Given the description of an element on the screen output the (x, y) to click on. 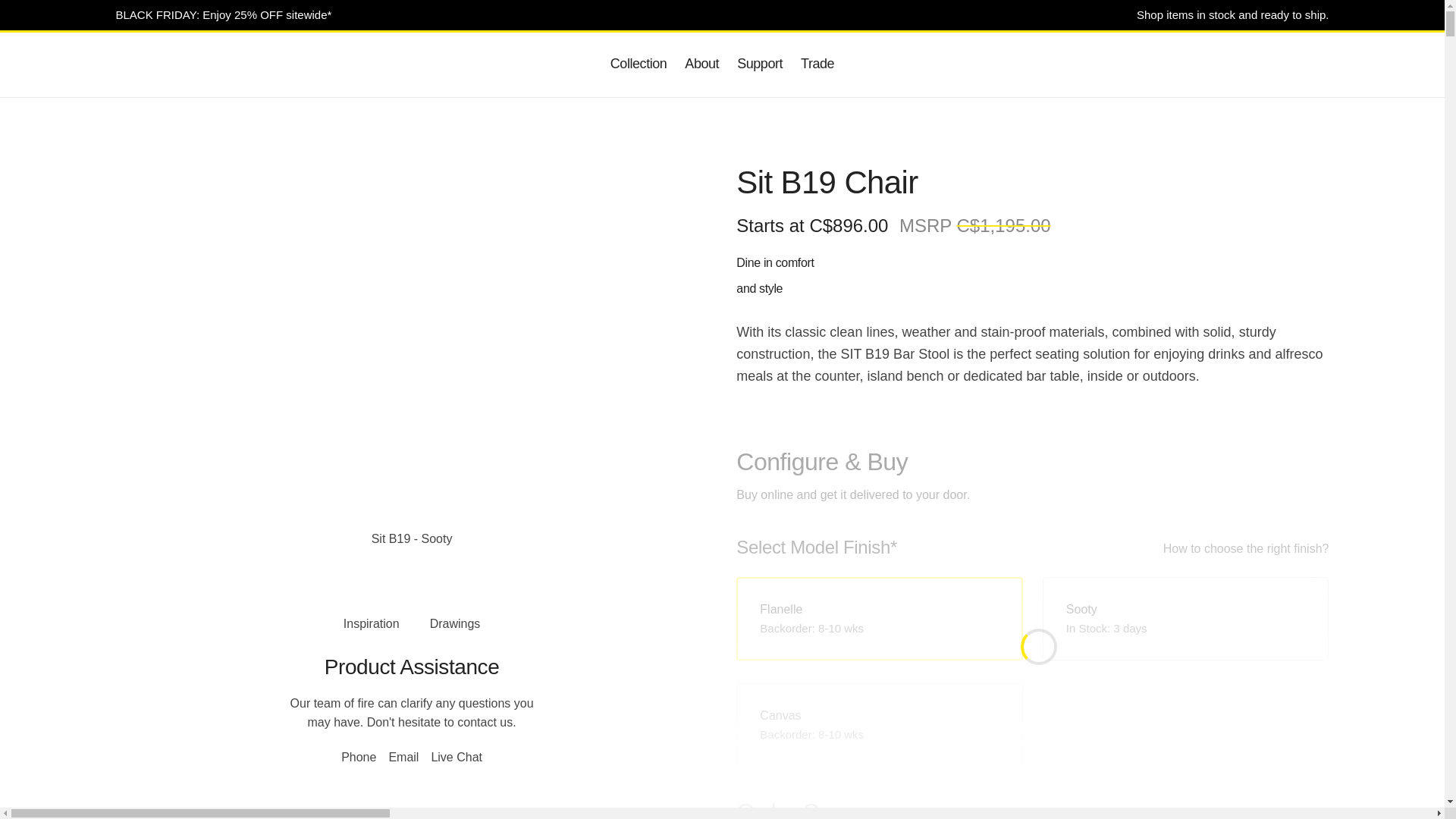
Phone Element type: text (358, 756)
Phone Element type: text (1228, 63)
Sign In Element type: text (1319, 63)
How to choose the right finish? Element type: text (1246, 548)
Trade Element type: text (817, 63)
Cart Element type: text (1289, 63)
About Element type: text (701, 63)
Email Element type: text (403, 756)
Collection Element type: text (638, 63)
Search Element type: text (1258, 63)
Support Element type: text (759, 63)
Live Chat Element type: text (456, 756)
Blinde Design Element type: text (167, 57)
